Given the description of an element on the screen output the (x, y) to click on. 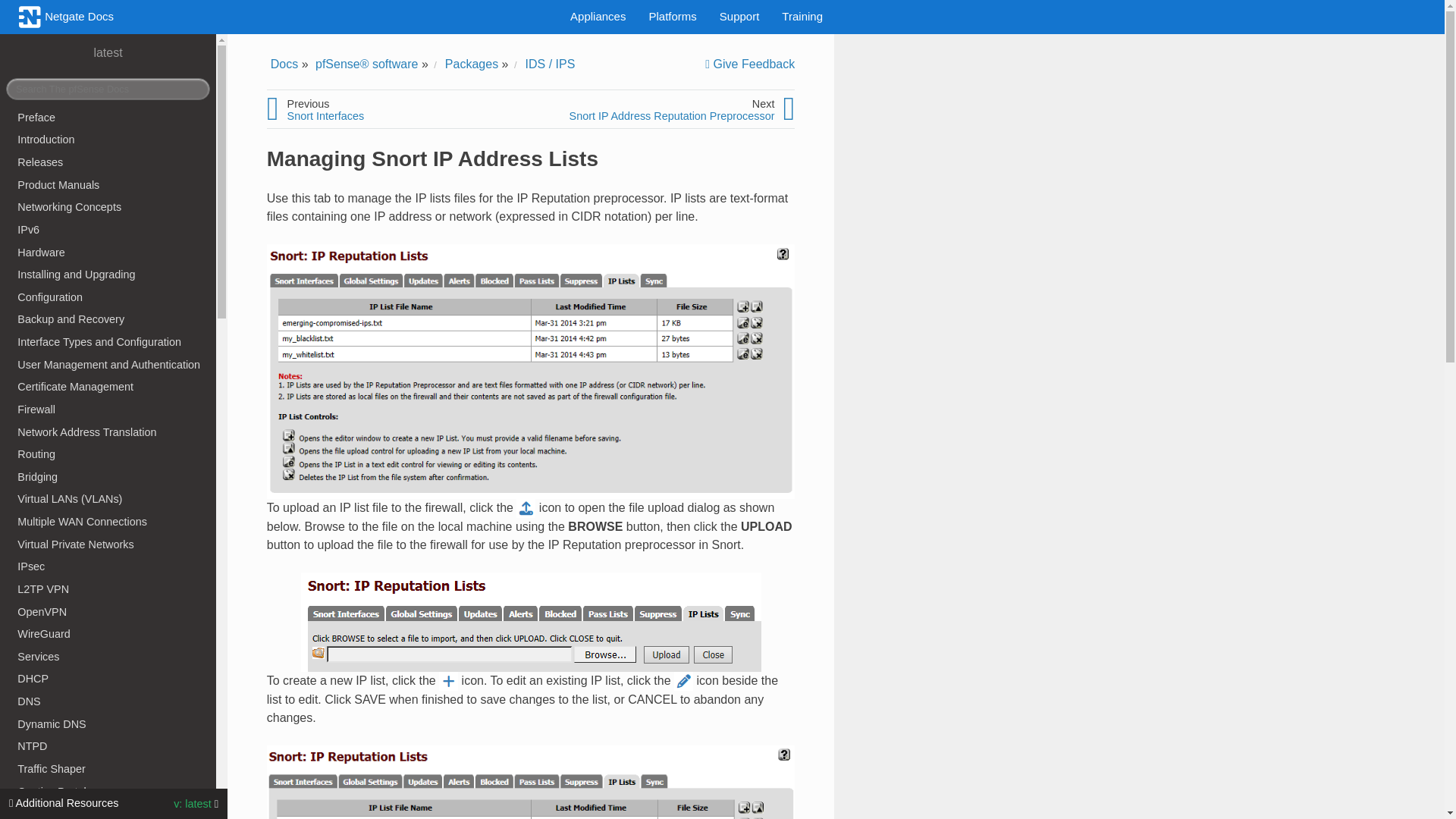
Snort Interfaces (325, 115)
Introduction (113, 139)
DNS (113, 701)
Virtual Private Networks (113, 544)
Snort IP Address Reputation Preprocessor (671, 115)
Network Address Translation (113, 431)
L2TP VPN (113, 589)
Dynamic DNS (113, 723)
OpenVPN (113, 611)
Preface (113, 117)
